Given the description of an element on the screen output the (x, y) to click on. 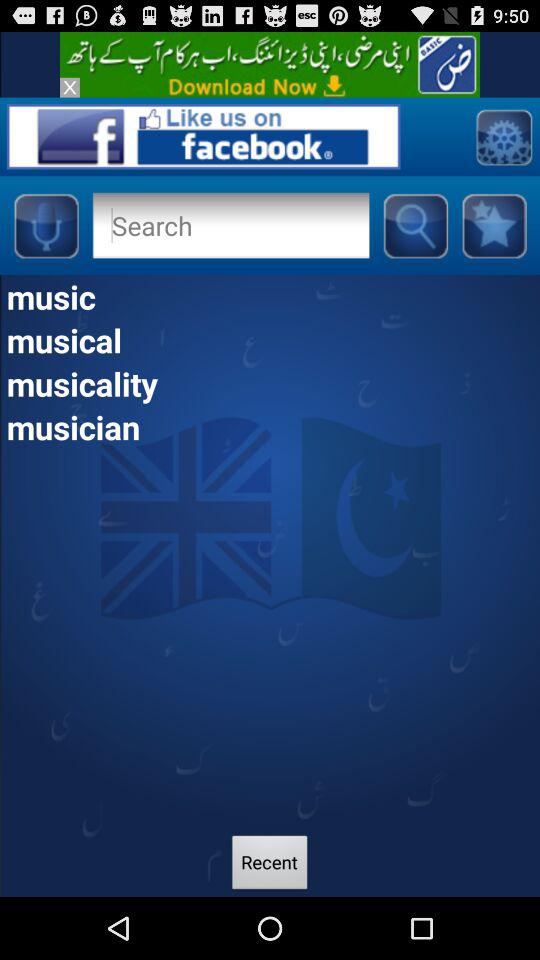
microphone (45, 225)
